Given the description of an element on the screen output the (x, y) to click on. 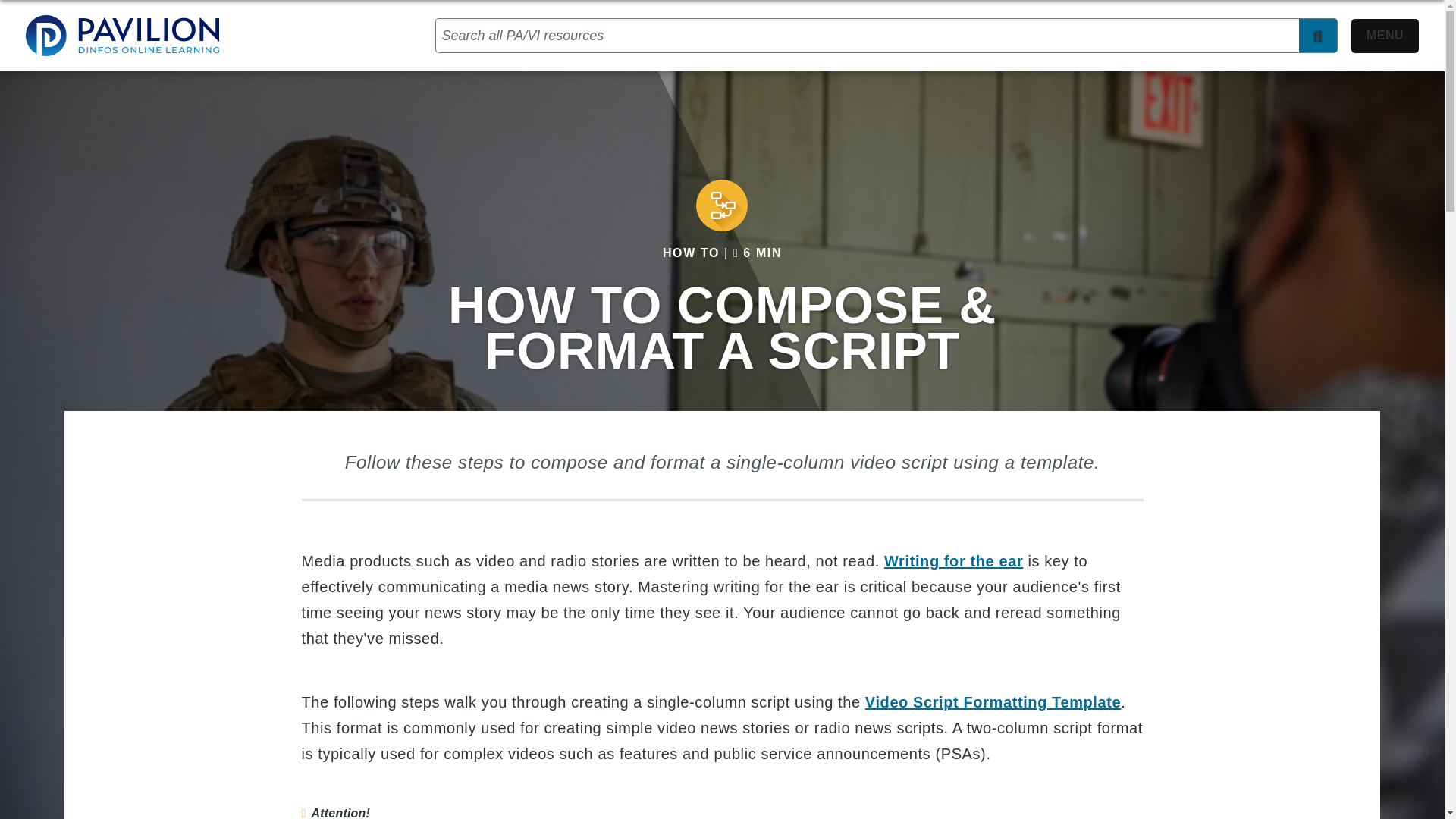
Video Script Formatting Template (992, 701)
SEARCH (1318, 35)
MENU (1384, 35)
Writing for the ear (953, 560)
